Given the description of an element on the screen output the (x, y) to click on. 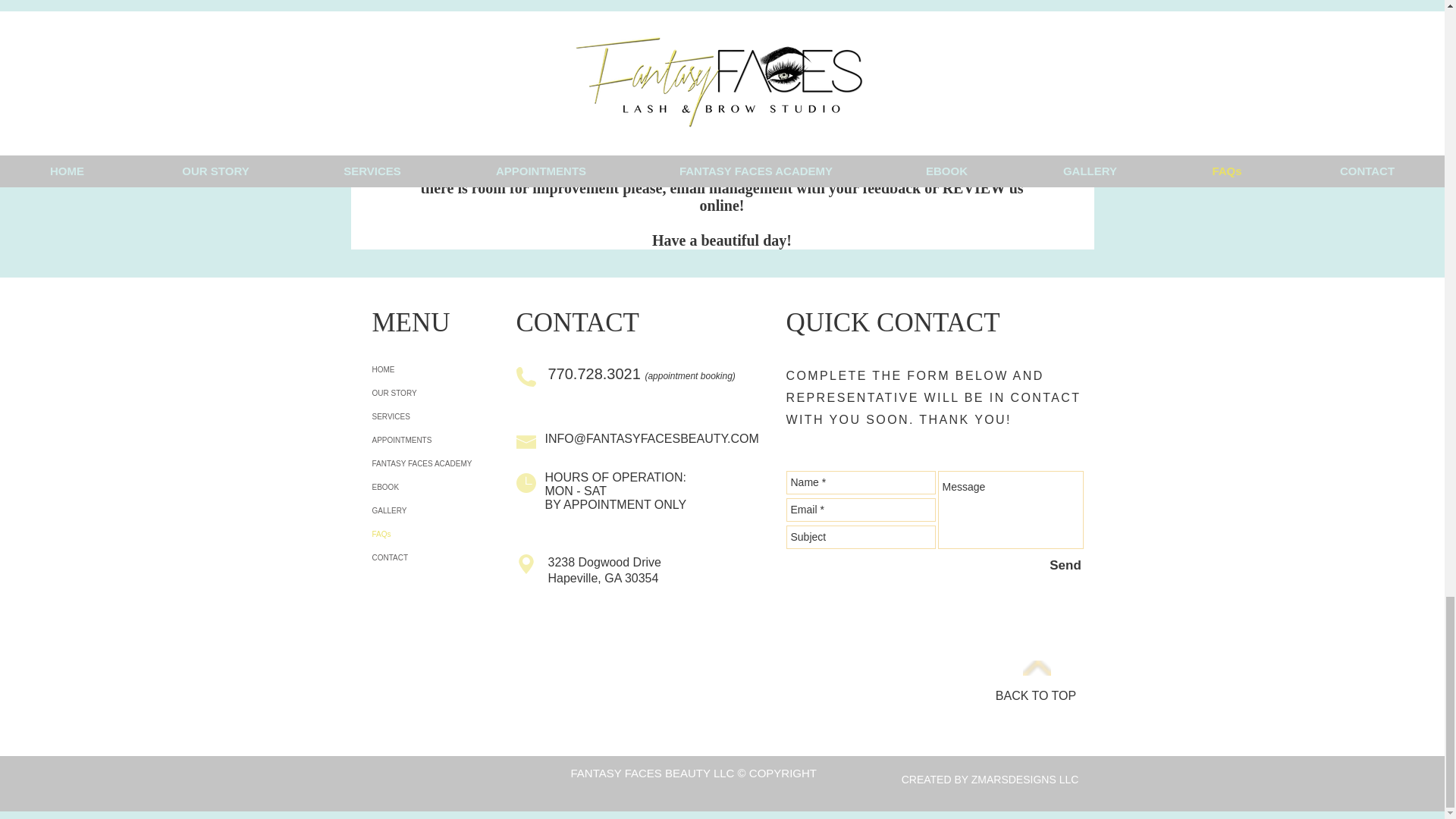
Send (1065, 565)
APPOINTMENTS (461, 440)
GALLERY (461, 510)
FANTASY FACES ACADEMY (461, 463)
OUR STORY (461, 392)
FAQs (461, 534)
EBOOK (461, 486)
HOME (461, 369)
CONTACT (461, 557)
